Given the description of an element on the screen output the (x, y) to click on. 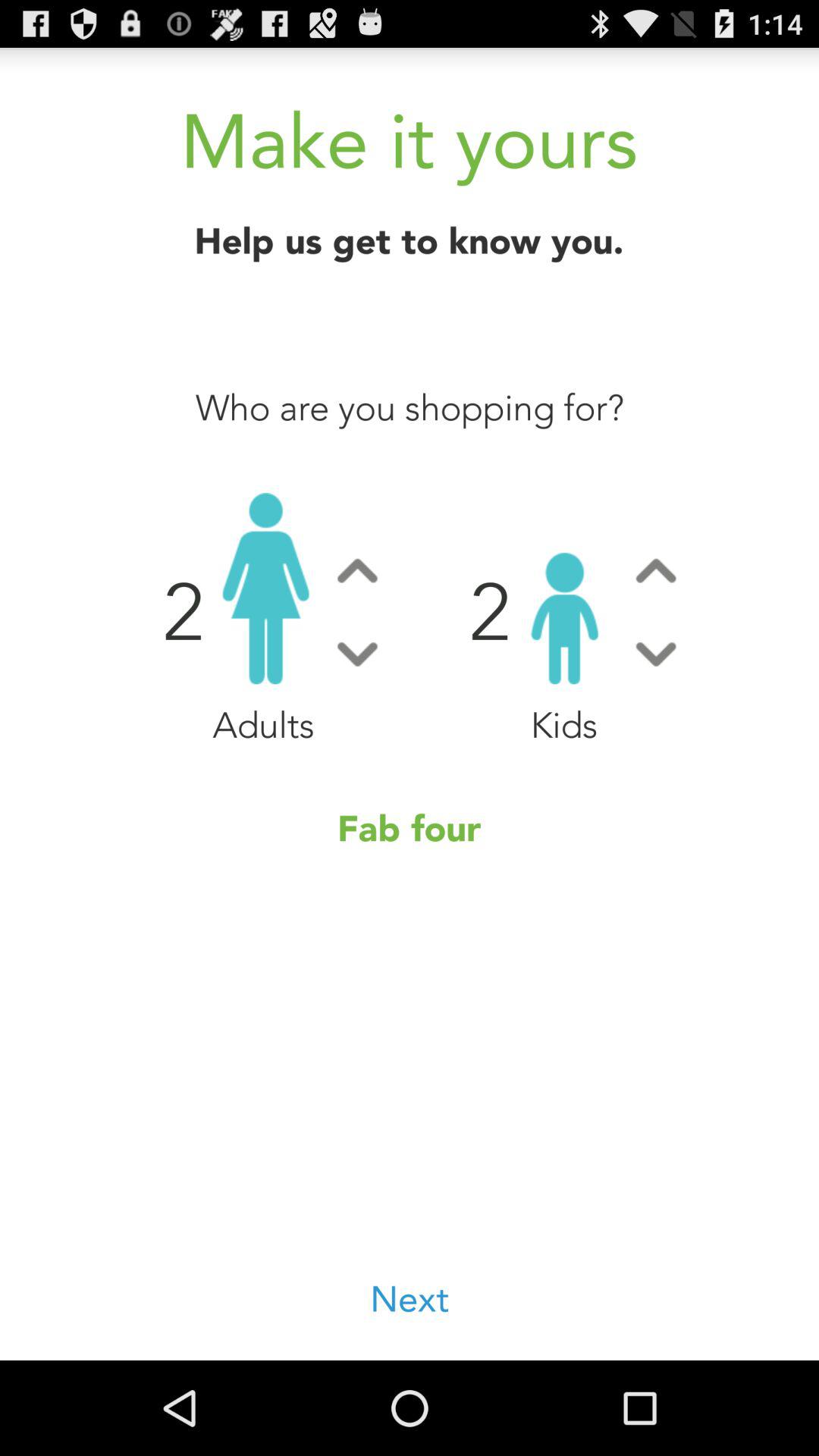
increase adult count (357, 570)
